Given the description of an element on the screen output the (x, y) to click on. 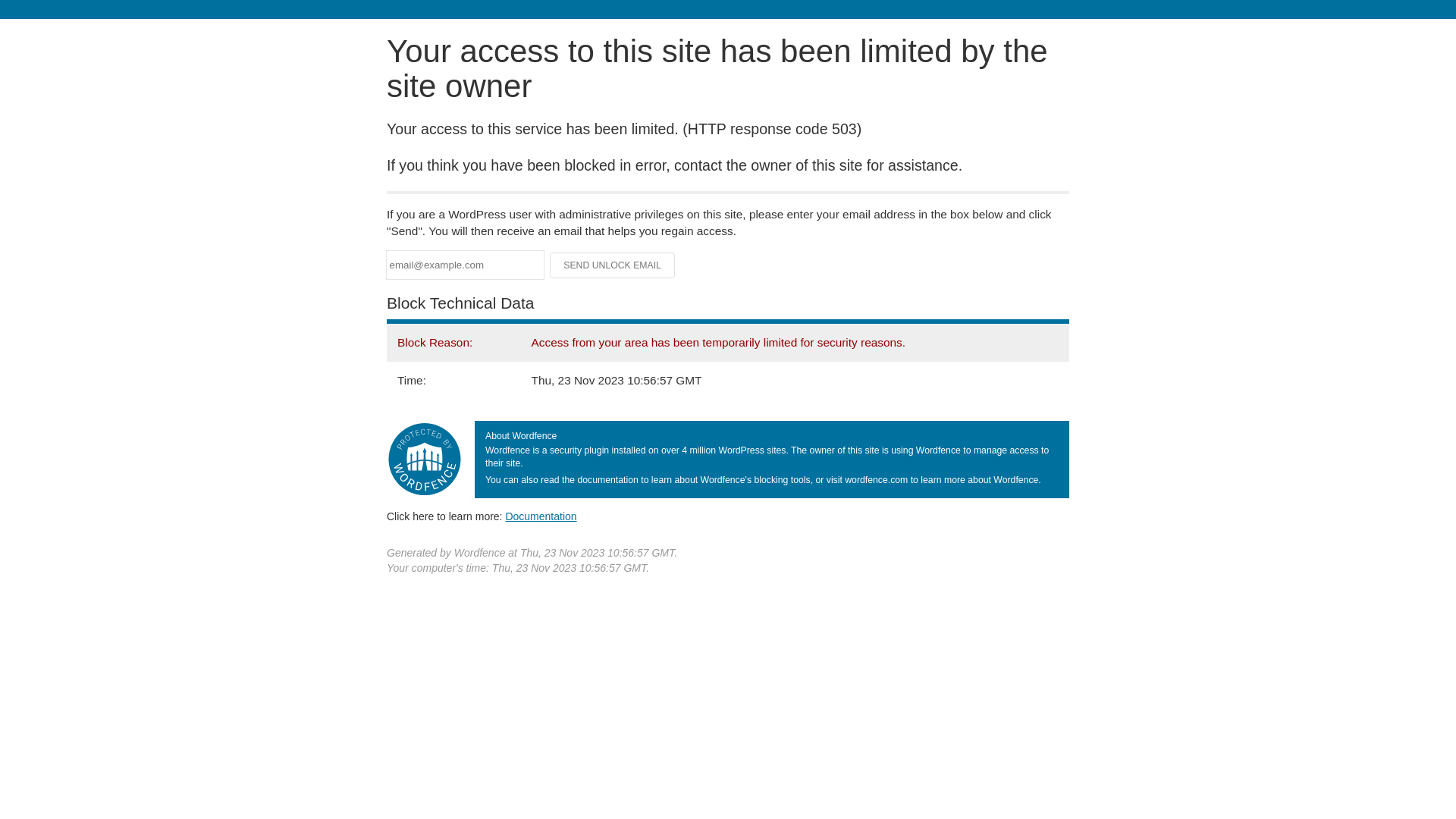
Documentation Element type: text (540, 516)
Send Unlock Email Element type: text (612, 265)
